Given the description of an element on the screen output the (x, y) to click on. 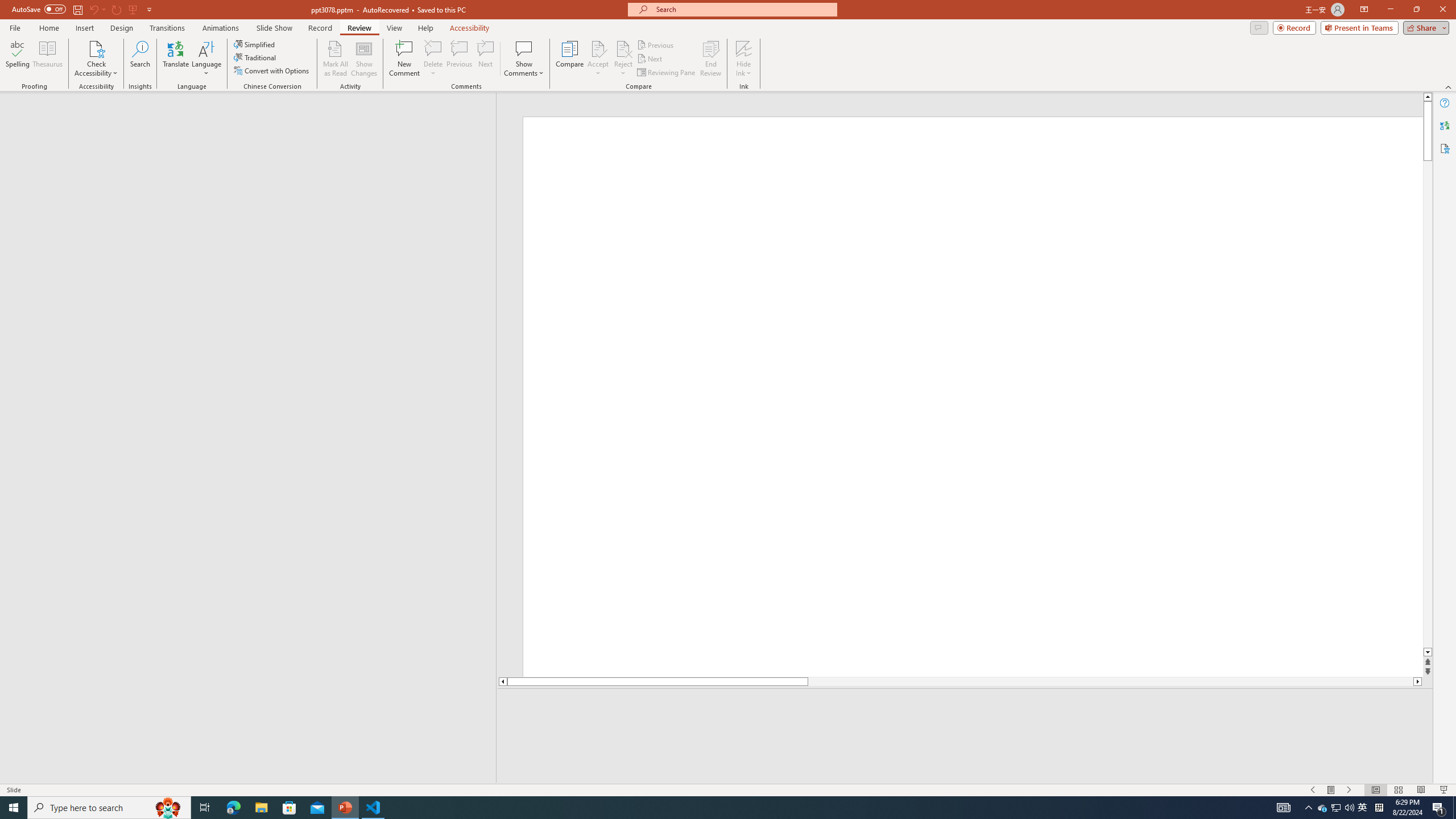
Reviewing Pane (666, 72)
Traditional (255, 56)
Show Comments (524, 48)
Mark All as Read (335, 58)
Check Accessibility (95, 48)
Check Accessibility (95, 58)
Slide Notes (965, 705)
